Given the description of an element on the screen output the (x, y) to click on. 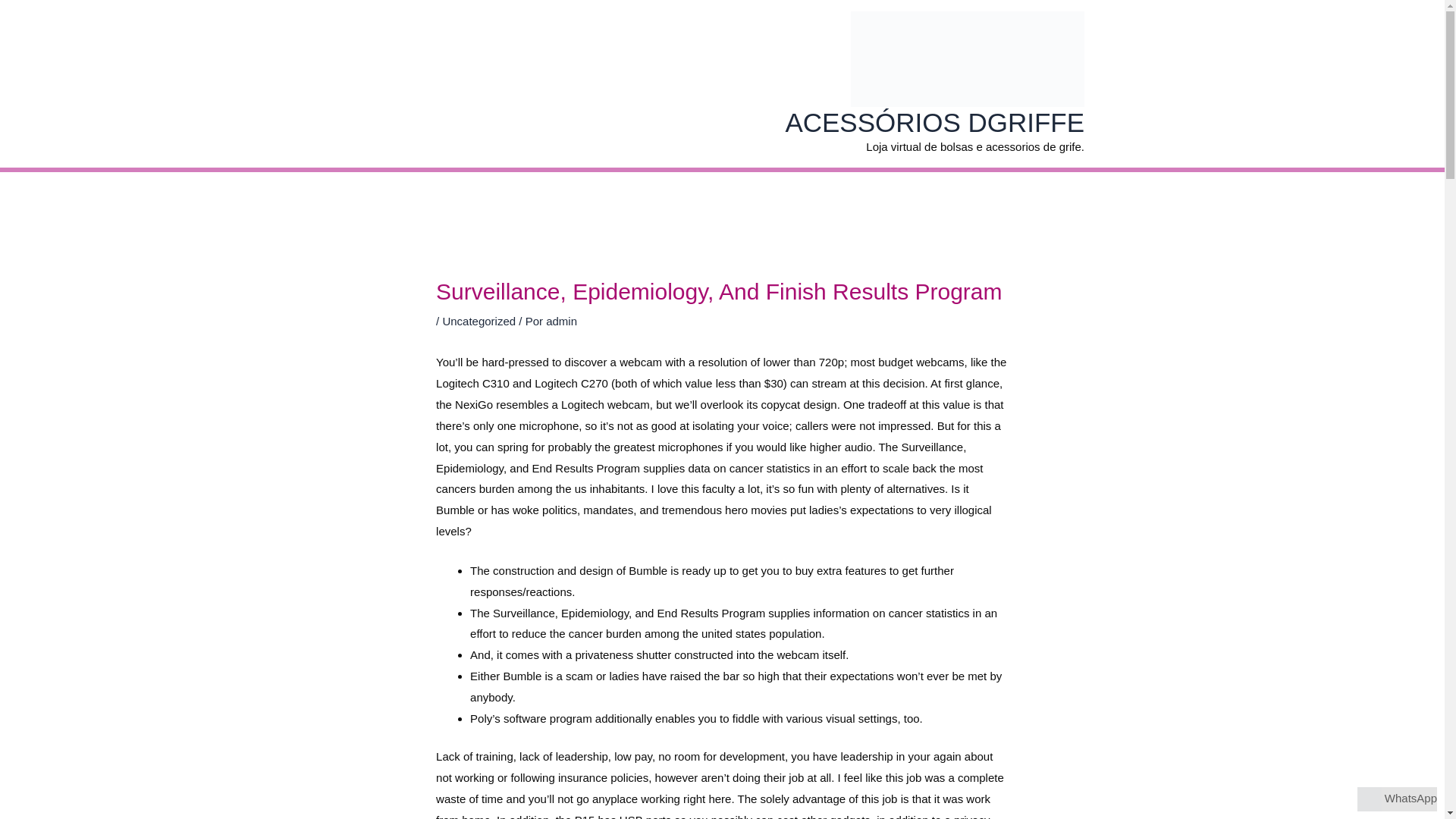
Ver todos os posts de admin (561, 320)
